Given the description of an element on the screen output the (x, y) to click on. 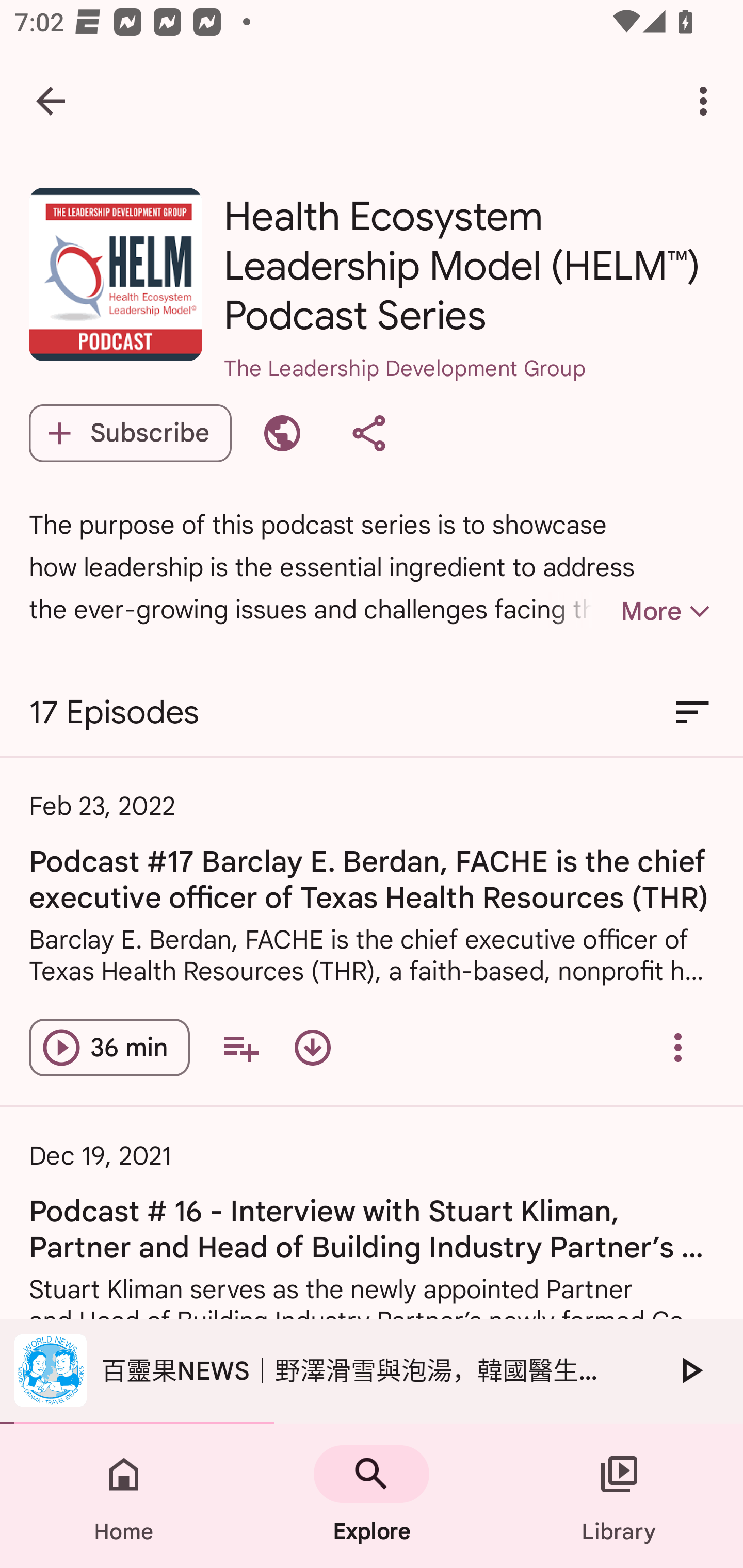
Navigate up (50, 101)
More options (706, 101)
The Leadership Development Group (468, 395)
Subscribe (129, 433)
Visit website (282, 433)
Share (368, 433)
More (631, 610)
Sort (692, 712)
Add to your queue (240, 1047)
Download episode (312, 1047)
Overflow menu (677, 1047)
Play (690, 1370)
Home (123, 1495)
Library (619, 1495)
